Given the description of an element on the screen output the (x, y) to click on. 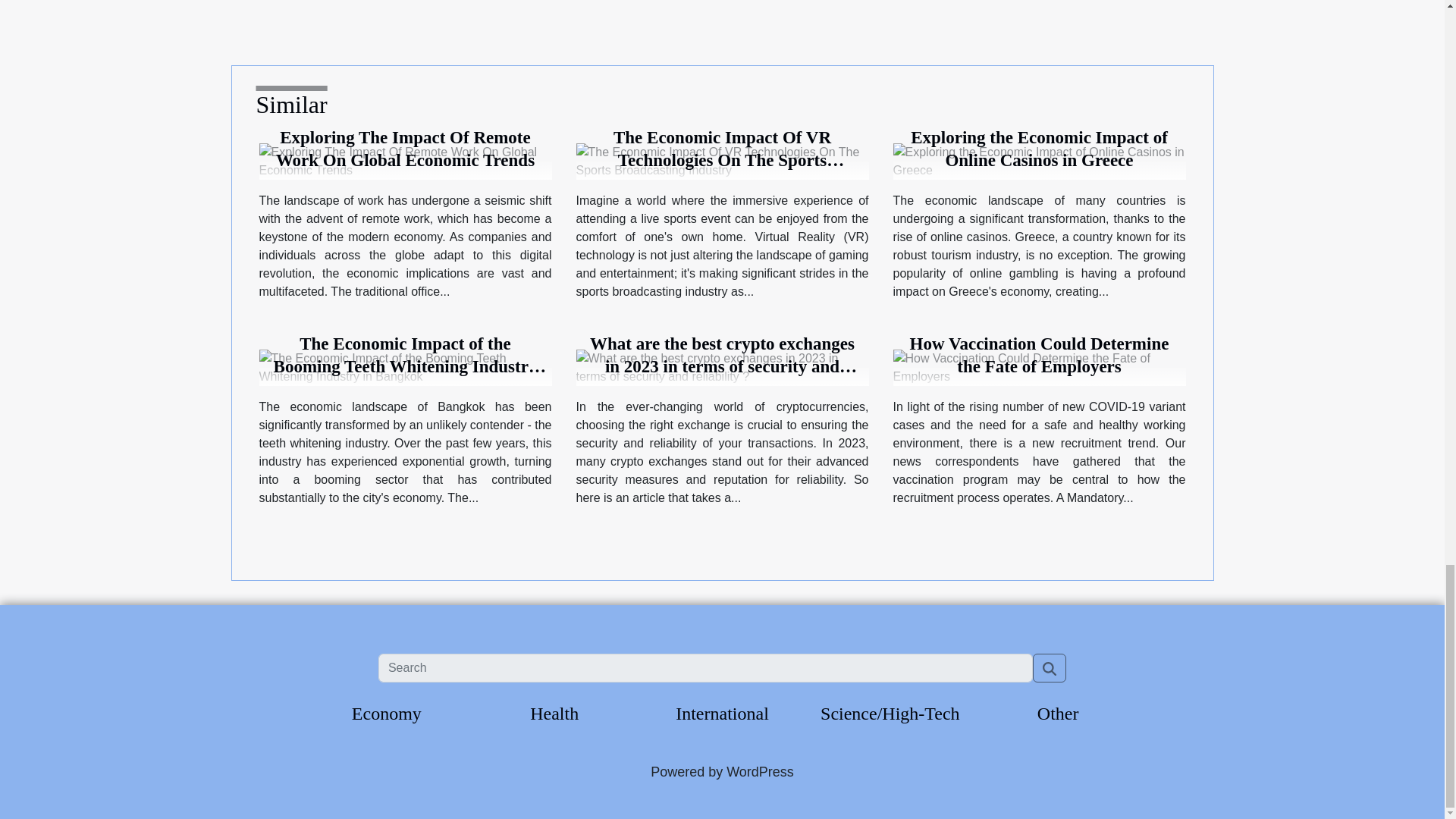
Exploring the Economic Impact of Online Casinos in Greece (1039, 148)
Exploring the Economic Impact of Online Casinos in Greece (1039, 148)
Exploring the Economic Impact of Online Casinos in Greece (1039, 160)
